Given the description of an element on the screen output the (x, y) to click on. 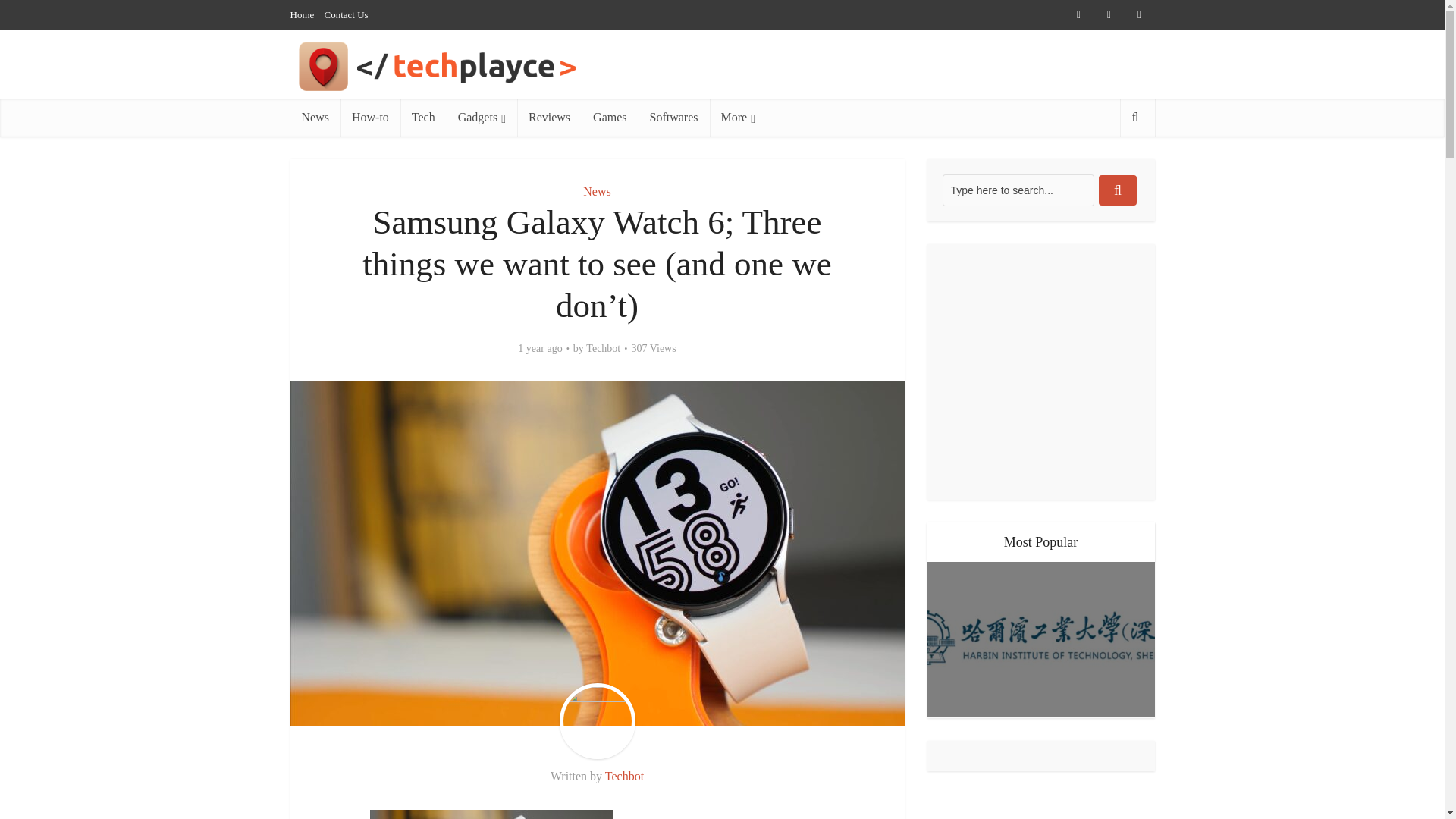
Gadgets (481, 117)
Google Chrome is now releasing security updates weekly (1040, 760)
Techbot (603, 348)
Softwares (674, 117)
News (596, 191)
Type here to search... (1017, 190)
Tech (423, 117)
Techbot (624, 775)
Techplayce (495, 65)
WhatsApp finally lets you do screen sharing in video calls (1040, 743)
Type here to search... (1017, 190)
Reviews (548, 117)
Contact Us (346, 14)
More (738, 117)
